Given the description of an element on the screen output the (x, y) to click on. 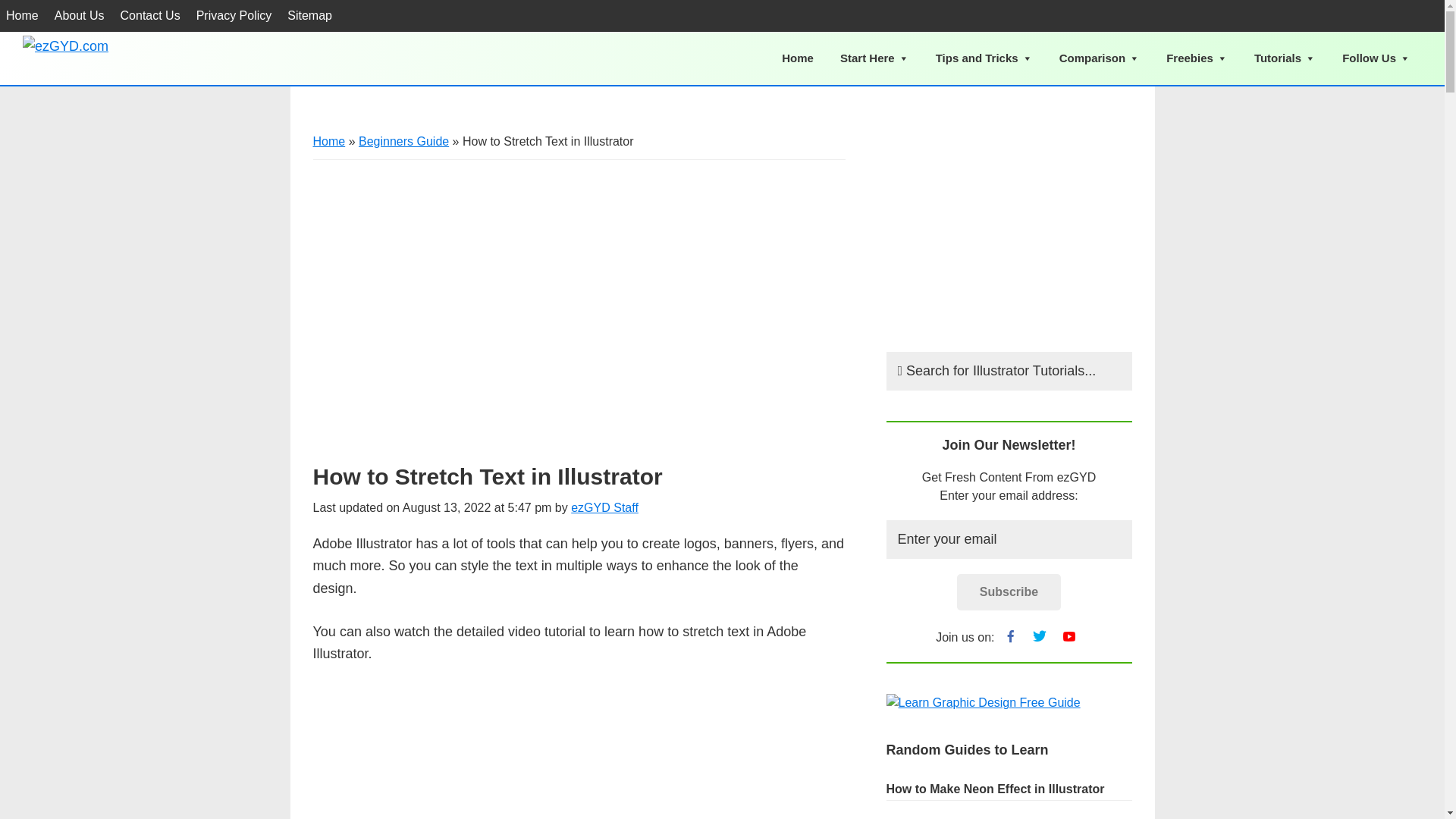
Comparison (1099, 58)
Home (797, 57)
Start Here (874, 58)
How to Stretch Text in Illustrator (578, 752)
Home (329, 141)
Freebies (1196, 58)
Tips and Tricks (983, 58)
Subscribe (1008, 592)
Privacy Policy (234, 15)
Contact Us (150, 15)
Advertisement (1008, 226)
Home (22, 15)
